Given the description of an element on the screen output the (x, y) to click on. 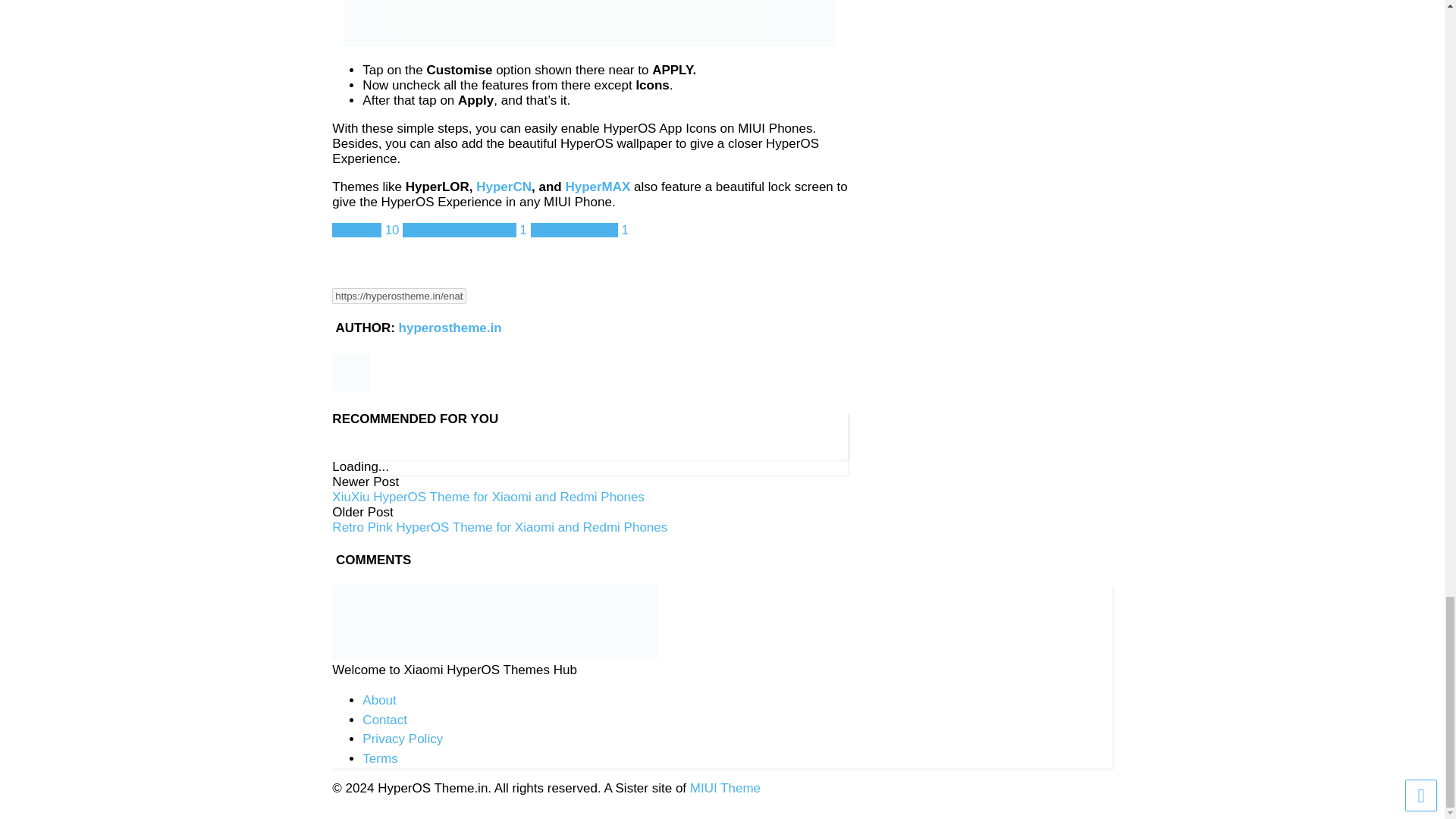
HyperMAX (597, 186)
author profile (450, 327)
XiuXiu HyperOS Theme for Xiaomi and Redmi Phones (488, 496)
Tutorials 10 (367, 229)
hyperostheme.in (450, 327)
HyperOS App Icons 1 (466, 229)
HyperCN (502, 186)
HyperOS Icons 1 (579, 229)
Retro Pink HyperOS Theme for Xiaomi and Redmi Phones (498, 527)
